Given the description of an element on the screen output the (x, y) to click on. 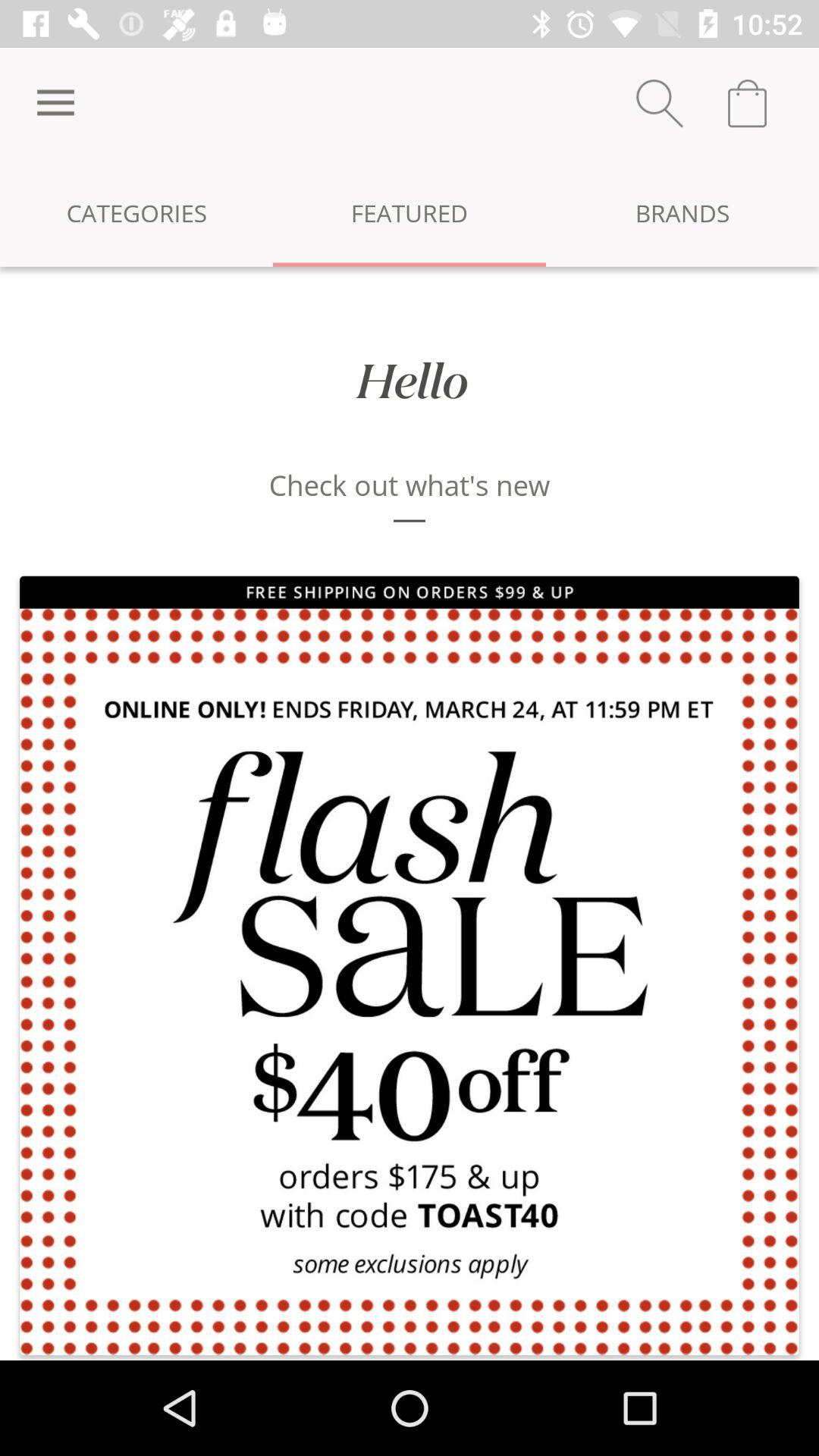
change zoom (659, 103)
